Given the description of an element on the screen output the (x, y) to click on. 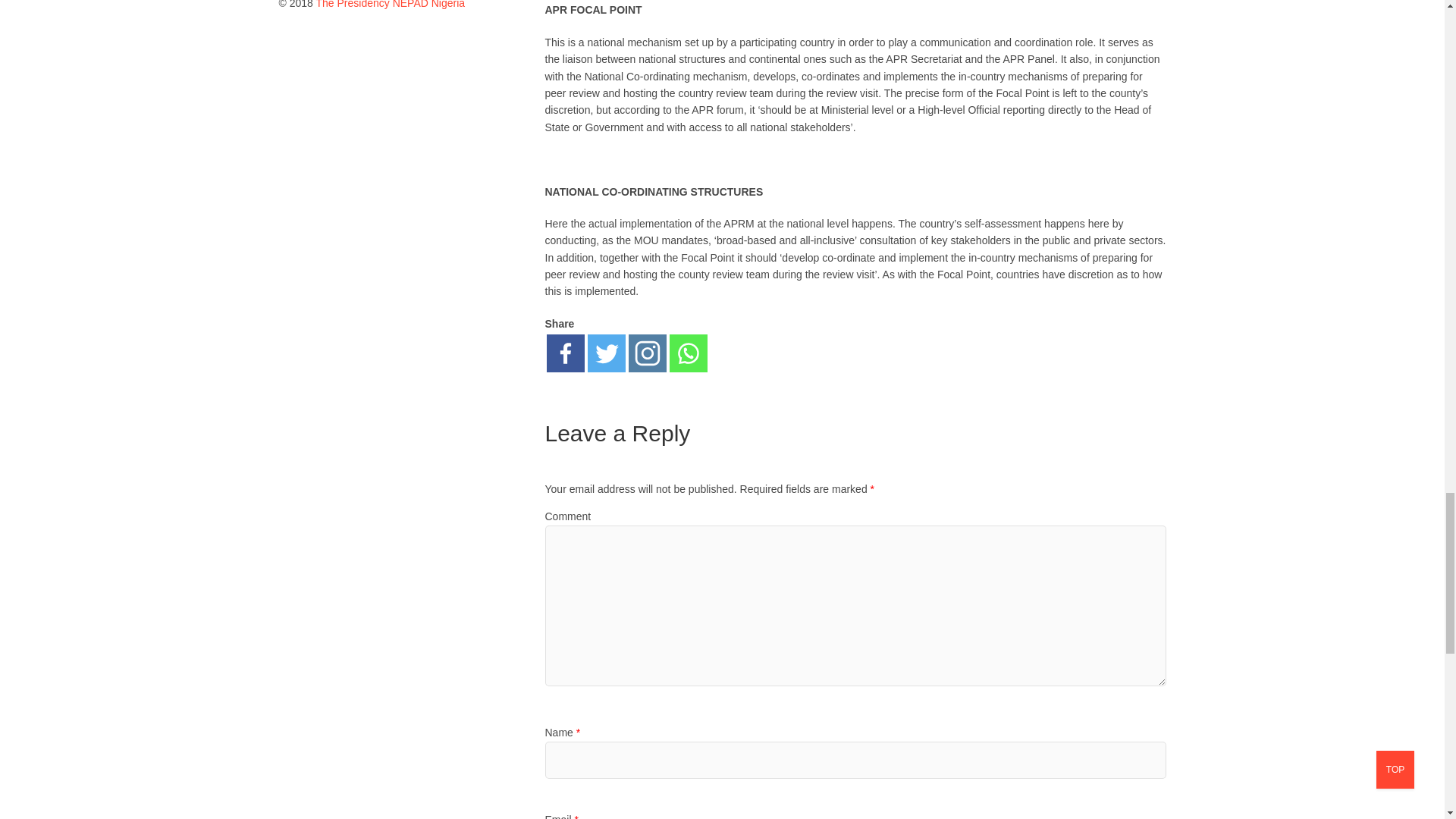
Twitter (605, 353)
Whatsapp (687, 353)
Facebook (564, 353)
Instagram (646, 353)
